Given the description of an element on the screen output the (x, y) to click on. 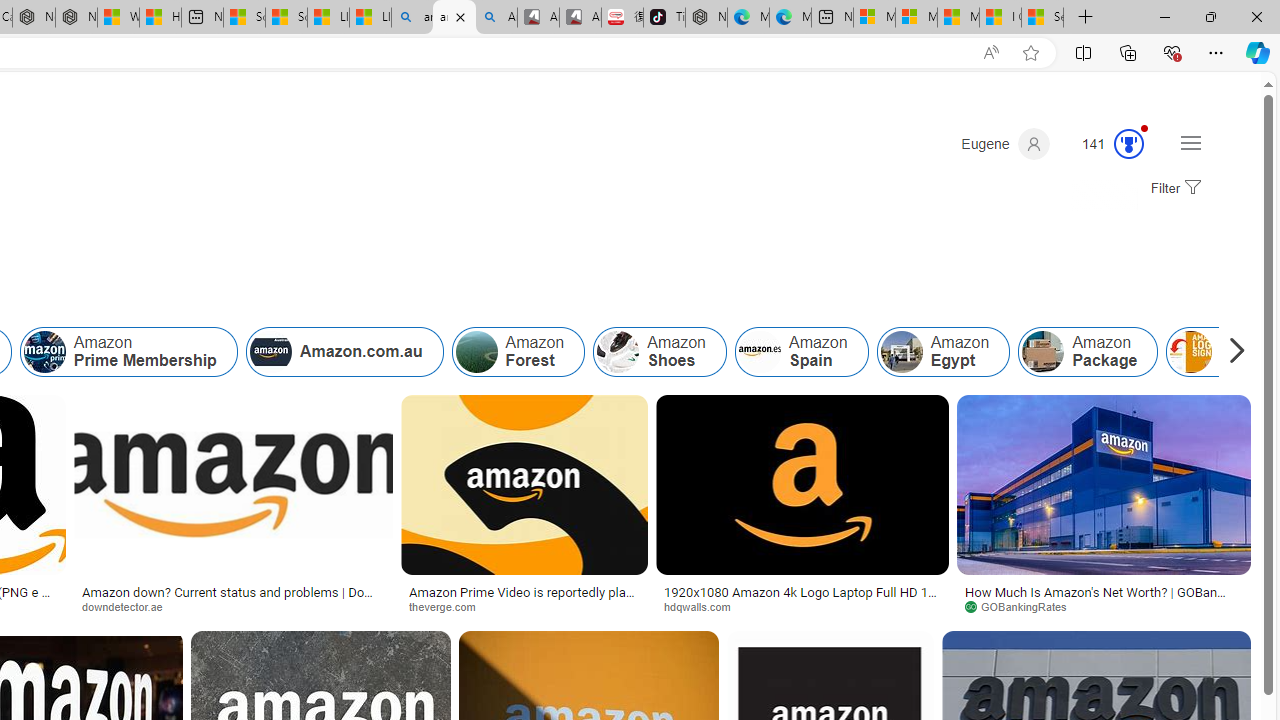
All Cubot phones (580, 17)
downdetector.ae (128, 605)
I Gained 20 Pounds of Muscle in 30 Days! | Watch (1000, 17)
Amazon Spain (800, 351)
Amazon Shoes (618, 351)
Image result for amazon (1103, 485)
Wildlife - MSN (118, 17)
Settings and quick links (1190, 142)
Amazon Prime Membership (44, 351)
